Given the description of an element on the screen output the (x, y) to click on. 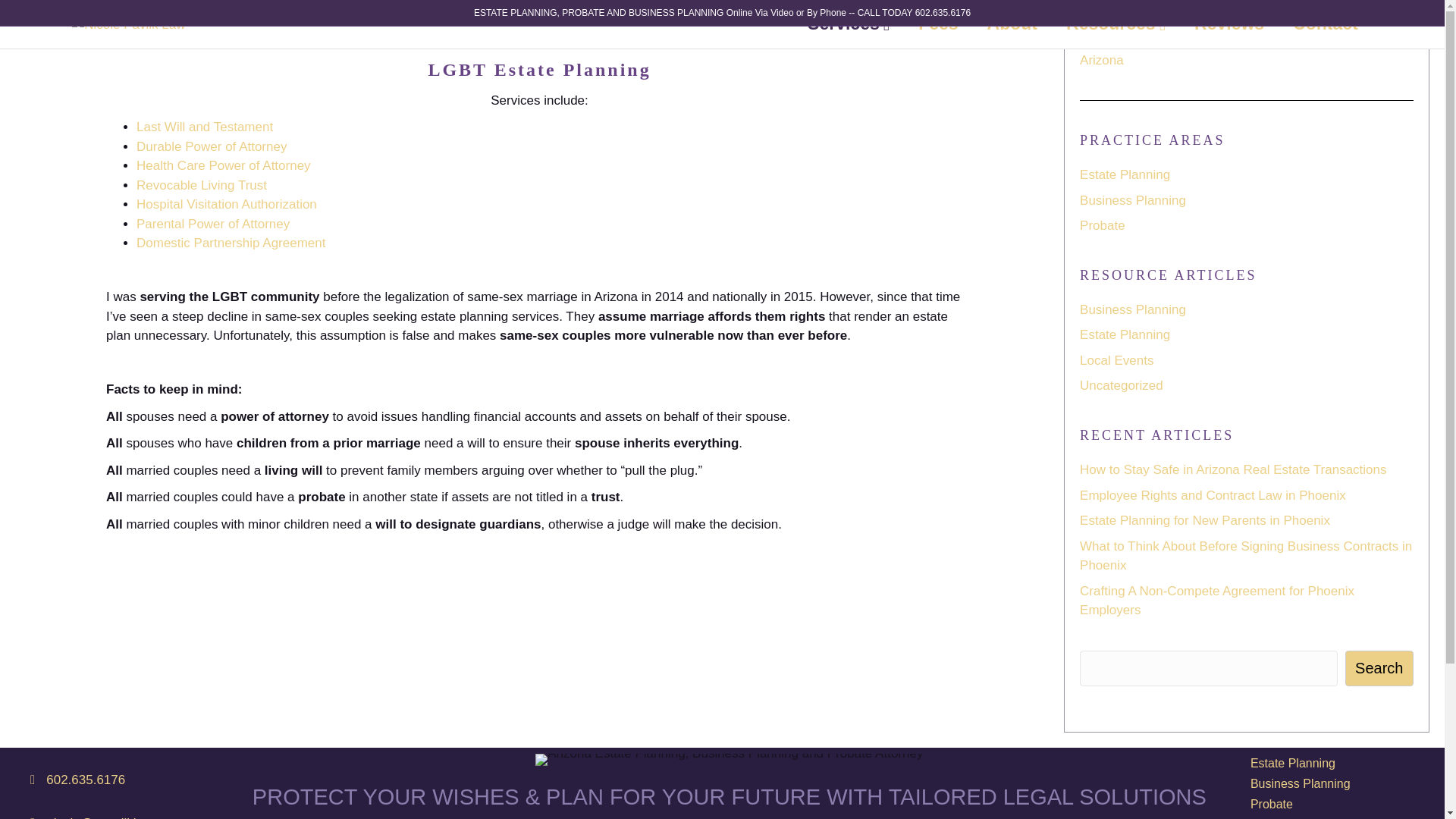
Estate Planning (1125, 174)
Reviews (1228, 23)
Parental Power of Attorney (212, 223)
Estate Planning (1125, 334)
Hospital Visitation Authorization (226, 204)
Call  (85, 780)
Last Will and Testament (204, 126)
Contact (1325, 23)
Health Care Power of Attorney (223, 165)
Services (848, 24)
